Given the description of an element on the screen output the (x, y) to click on. 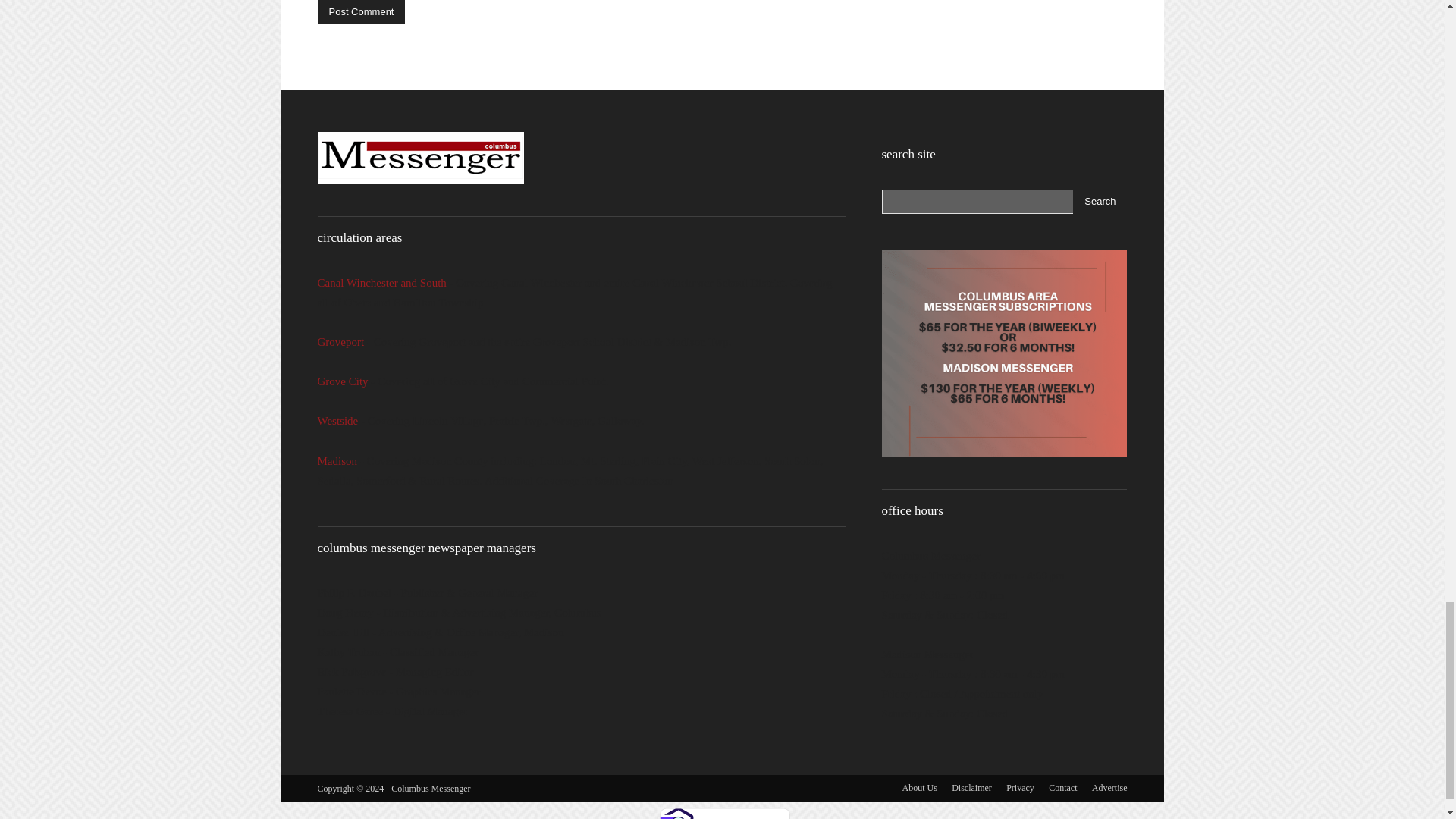
Post Comment (360, 11)
Search (1099, 201)
